Given the description of an element on the screen output the (x, y) to click on. 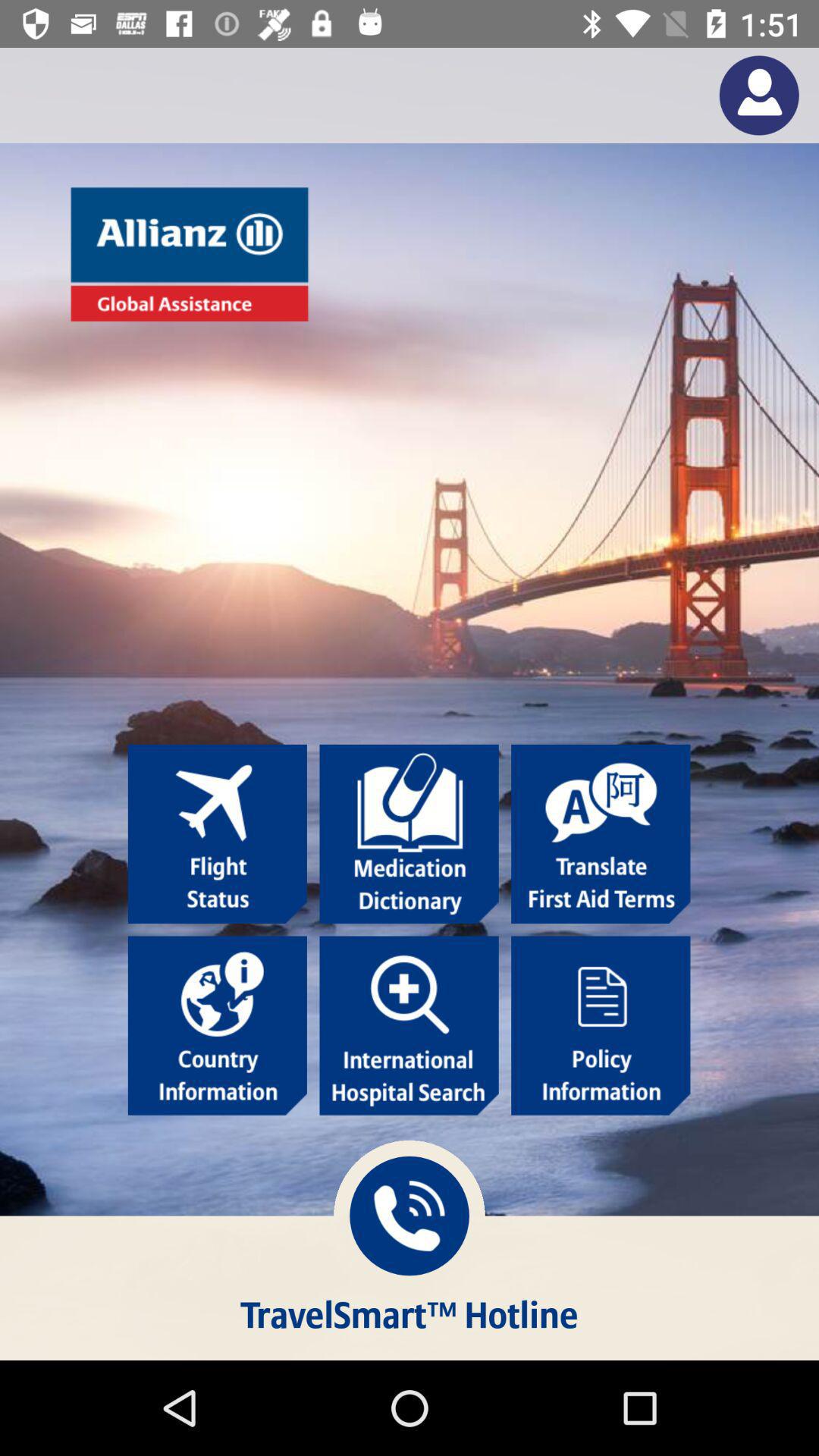
open medication dictionary (408, 833)
